Given the description of an element on the screen output the (x, y) to click on. 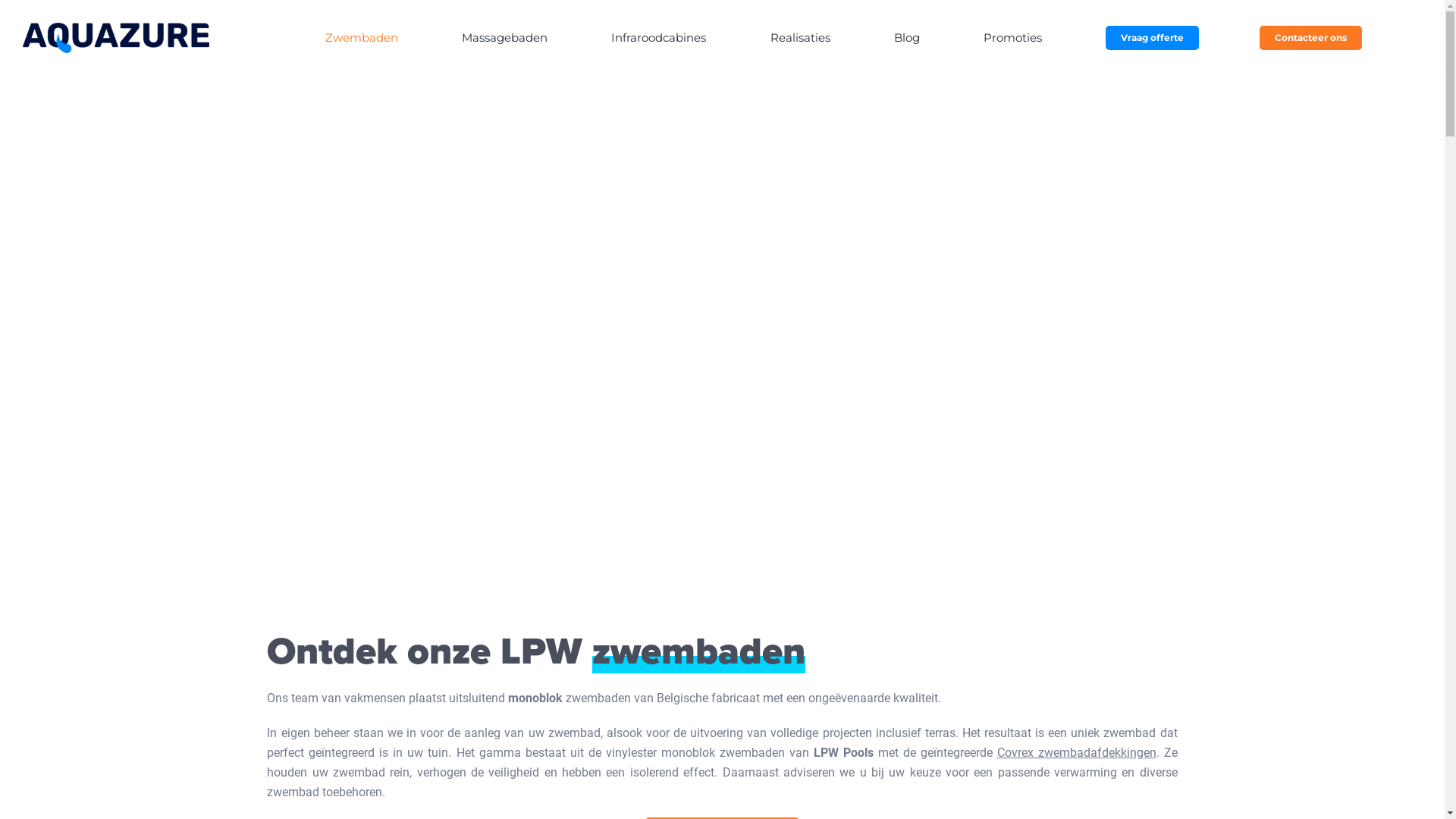
Promoties Element type: text (1014, 37)
Blog Element type: text (908, 37)
Logo 1 Element type: hover (115, 37)
Vraag offerte Element type: text (1151, 37)
Covrex zwembadafdekkingen Element type: text (1076, 752)
Infraroodcabines Element type: text (660, 37)
Zwembaden Element type: text (363, 37)
Massagebaden Element type: text (506, 37)
Realisaties Element type: text (802, 37)
Contacteer ons Element type: text (1310, 37)
